Given the description of an element on the screen output the (x, y) to click on. 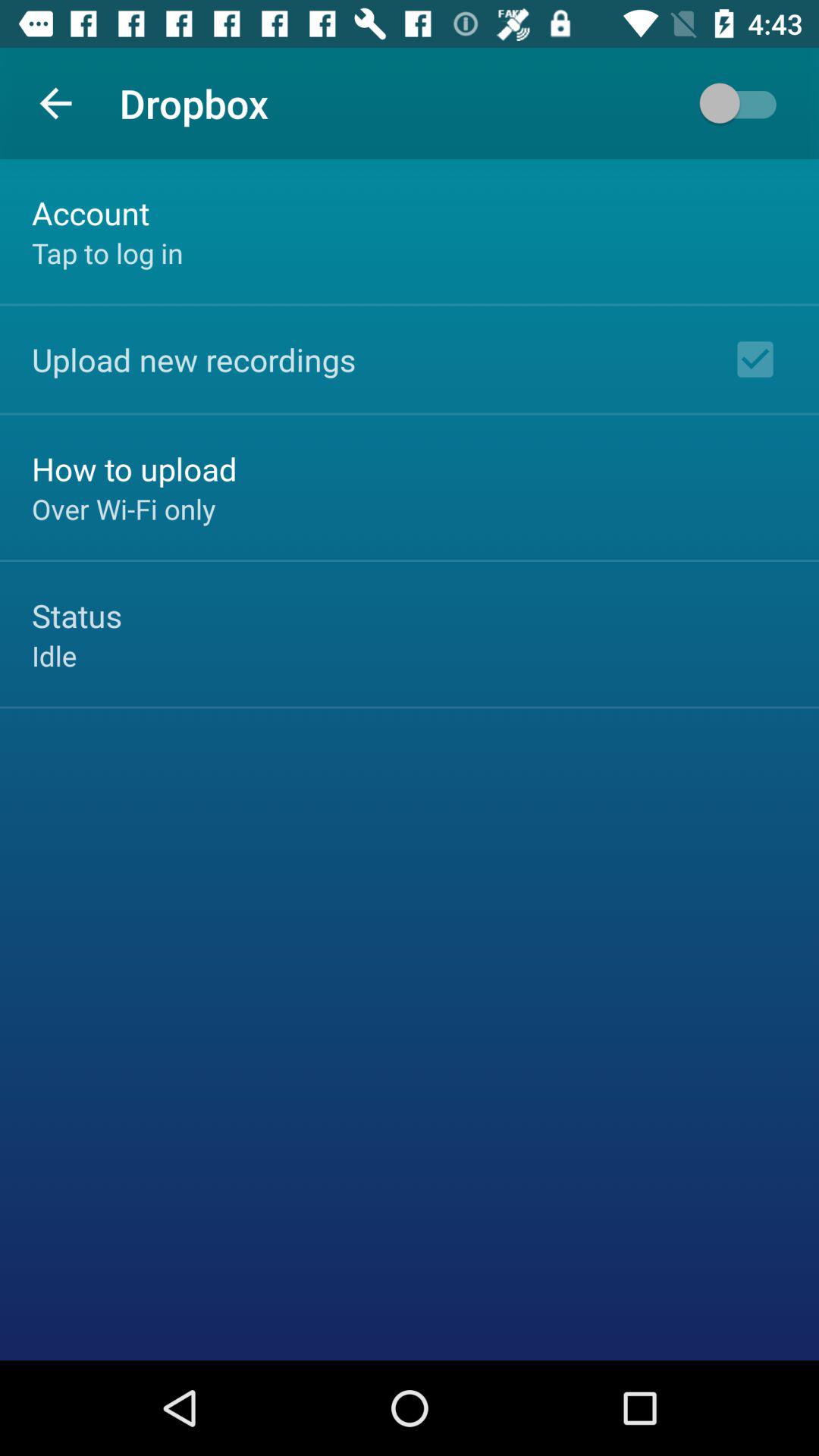
launch the icon below the how to upload icon (123, 508)
